Given the description of an element on the screen output the (x, y) to click on. 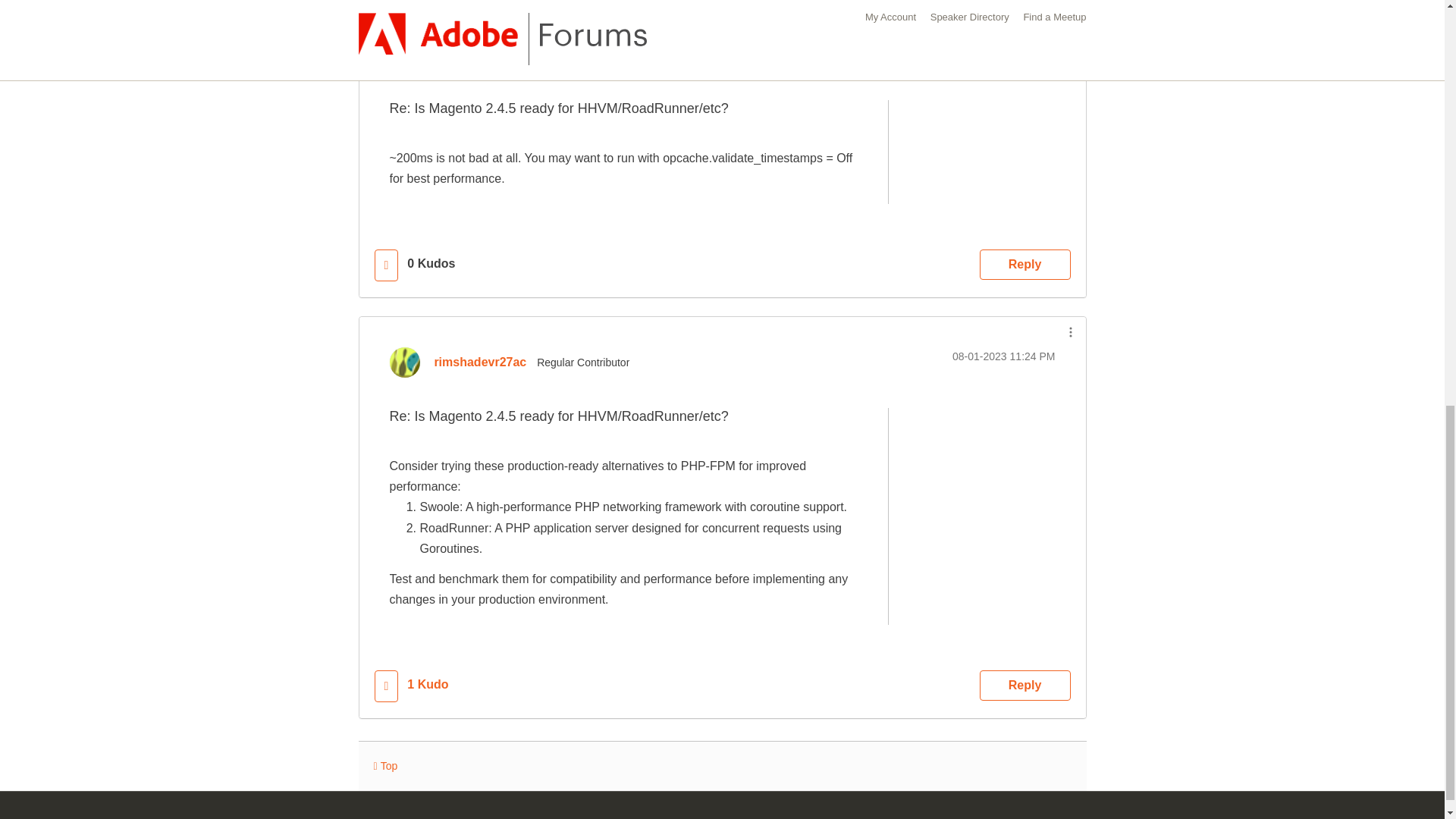
Top (385, 766)
All forum topics (849, 0)
Next Topic (1030, 0)
Previous Topic (943, 0)
Top (385, 766)
infogetpage875 (474, 53)
